Given the description of an element on the screen output the (x, y) to click on. 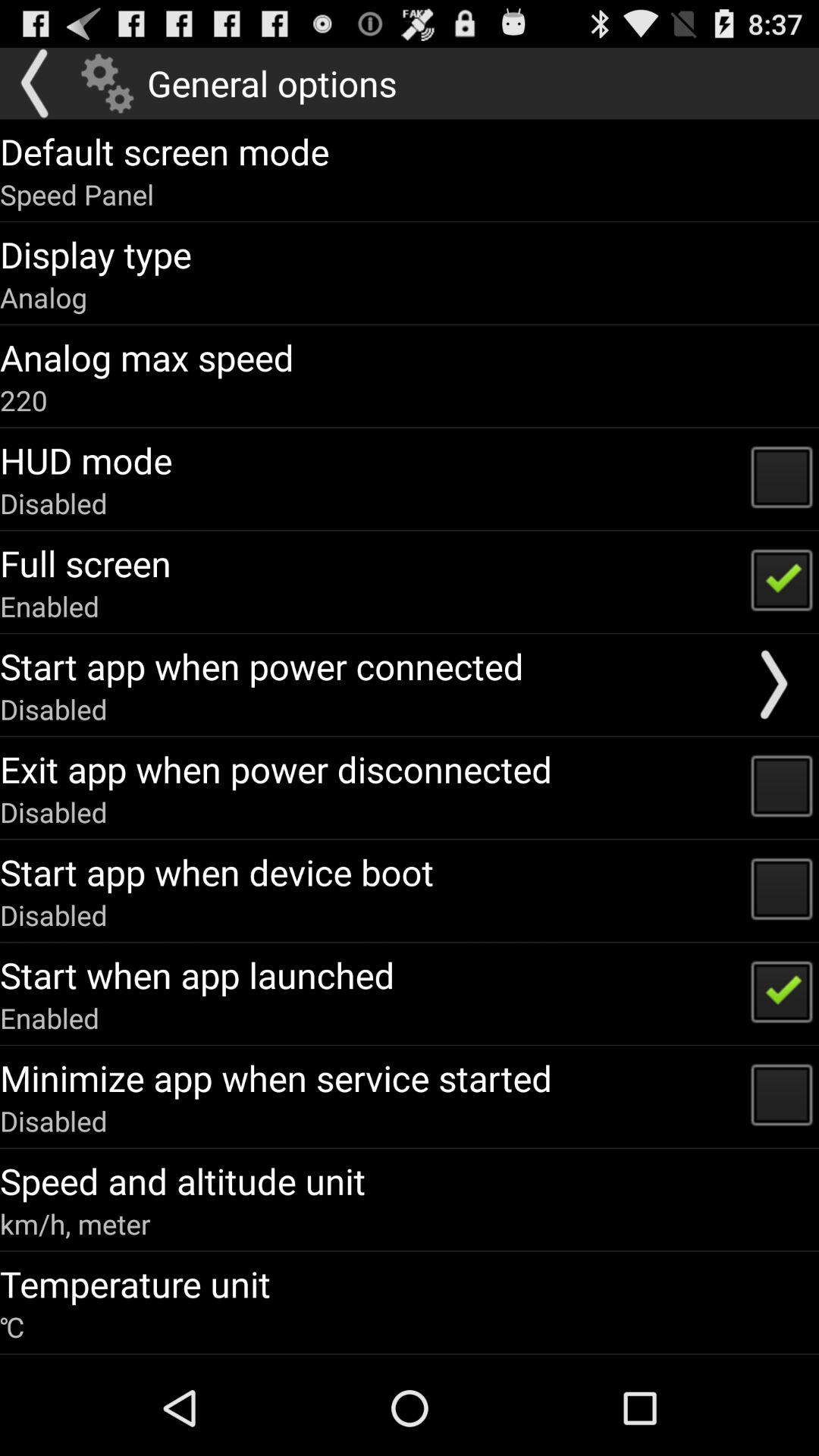
go to previous (35, 83)
